Given the description of an element on the screen output the (x, y) to click on. 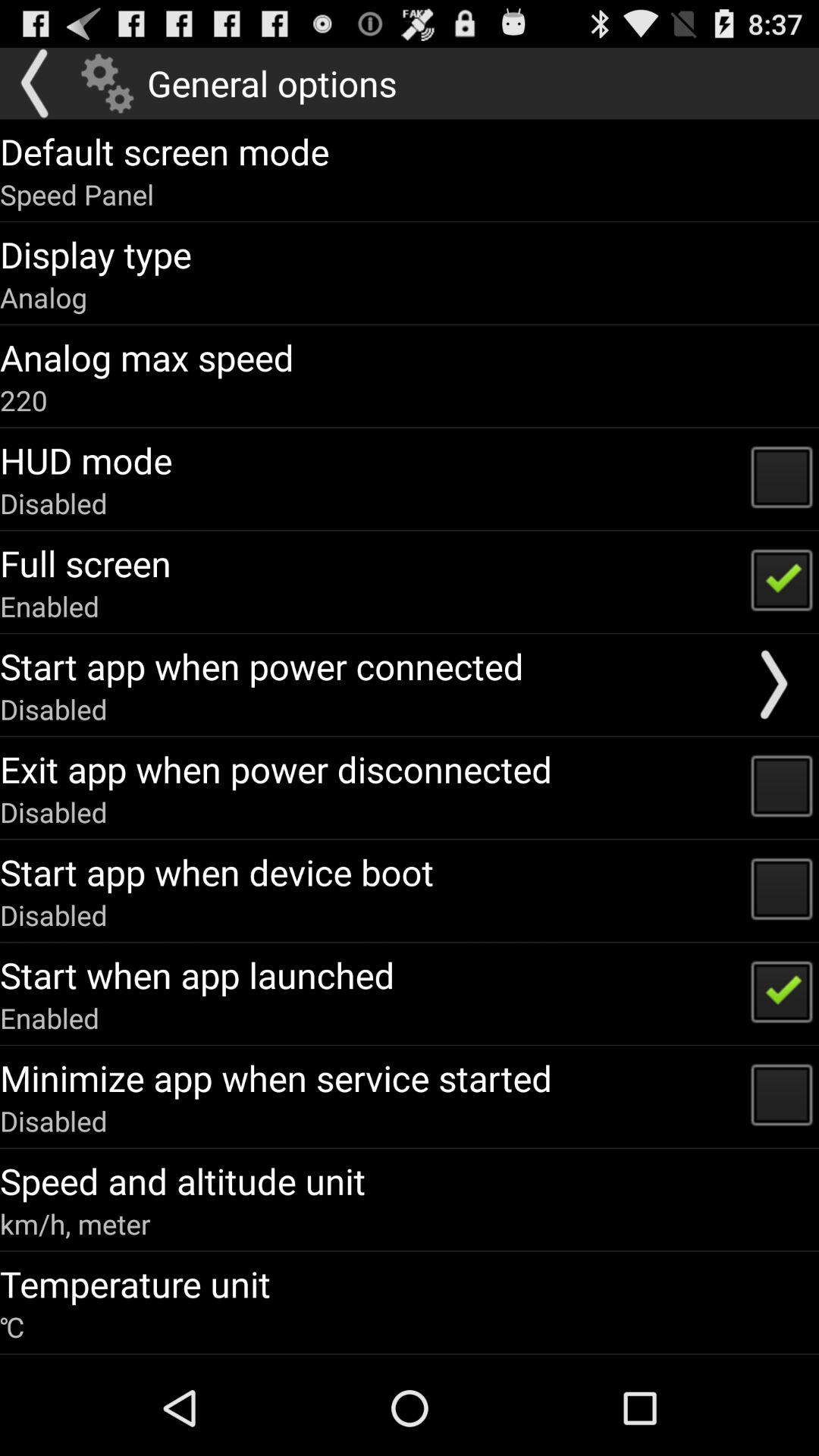
go to previous (35, 83)
